Given the description of an element on the screen output the (x, y) to click on. 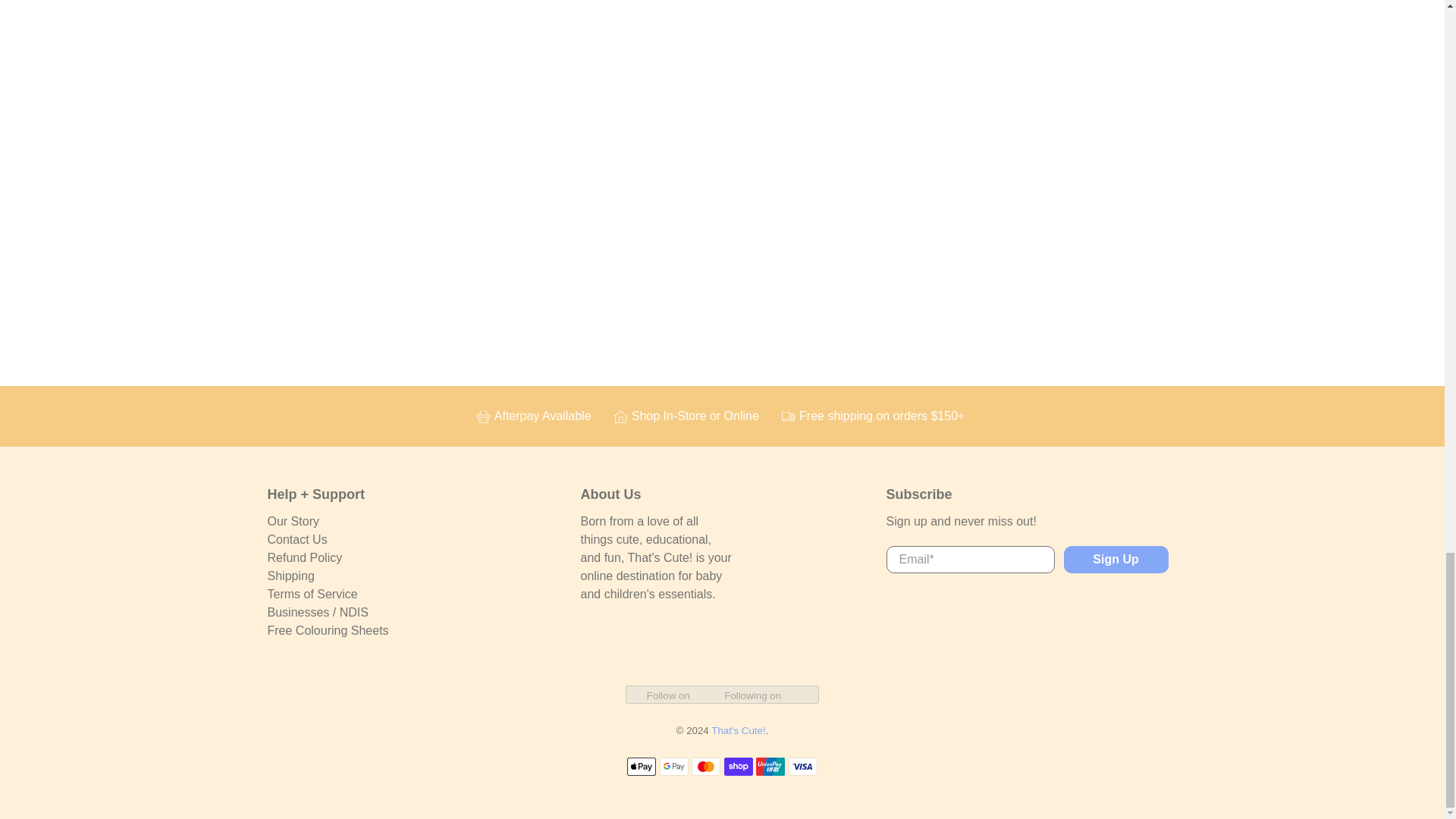
Apple Pay (641, 766)
Union Pay (769, 766)
Google Pay (673, 766)
Shop Pay (737, 766)
Visa (802, 766)
Mastercard (705, 766)
